Given the description of an element on the screen output the (x, y) to click on. 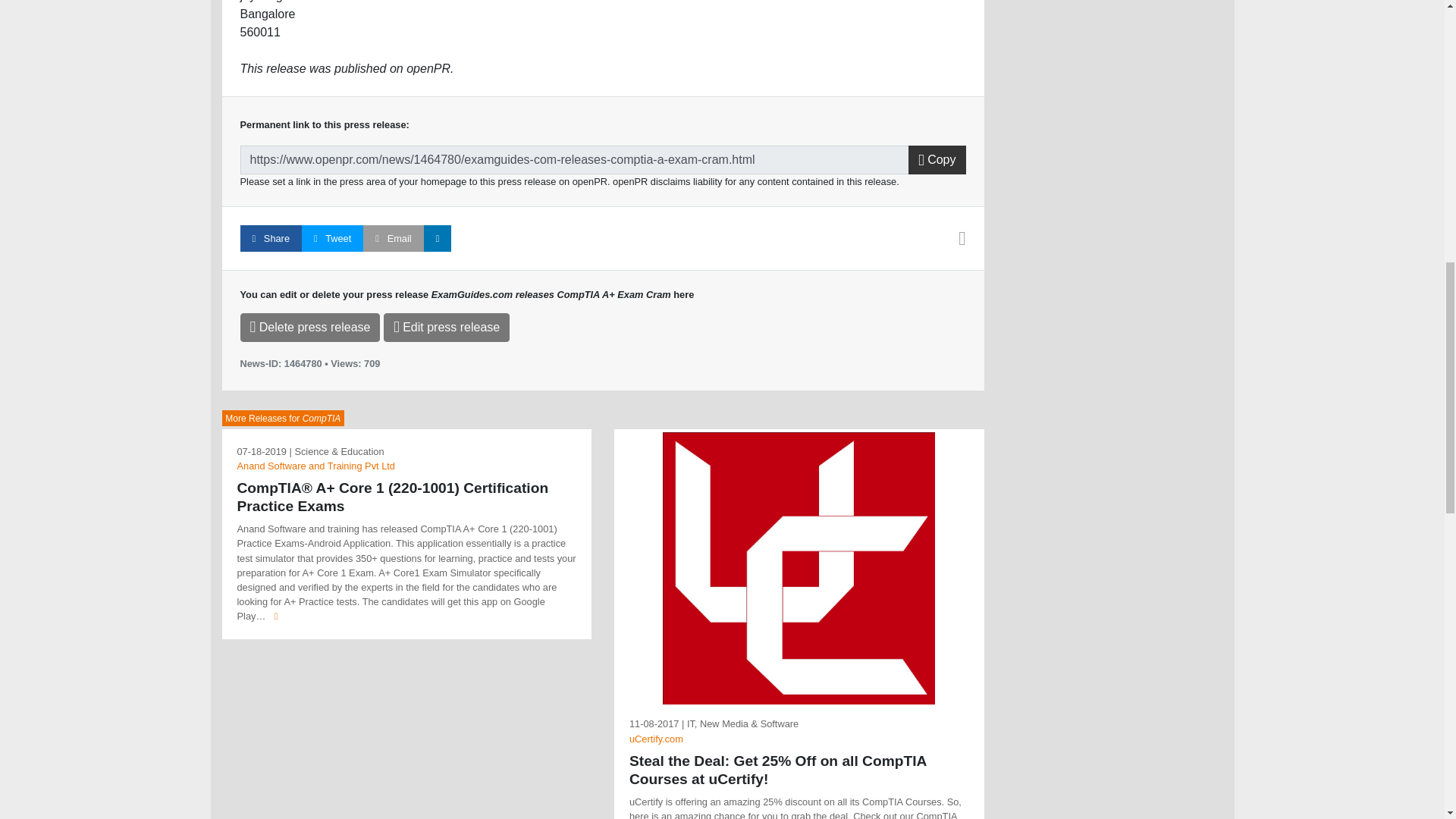
Permalink (574, 159)
Facebook (270, 238)
Email (392, 238)
LinkedIn (437, 238)
